Given the description of an element on the screen output the (x, y) to click on. 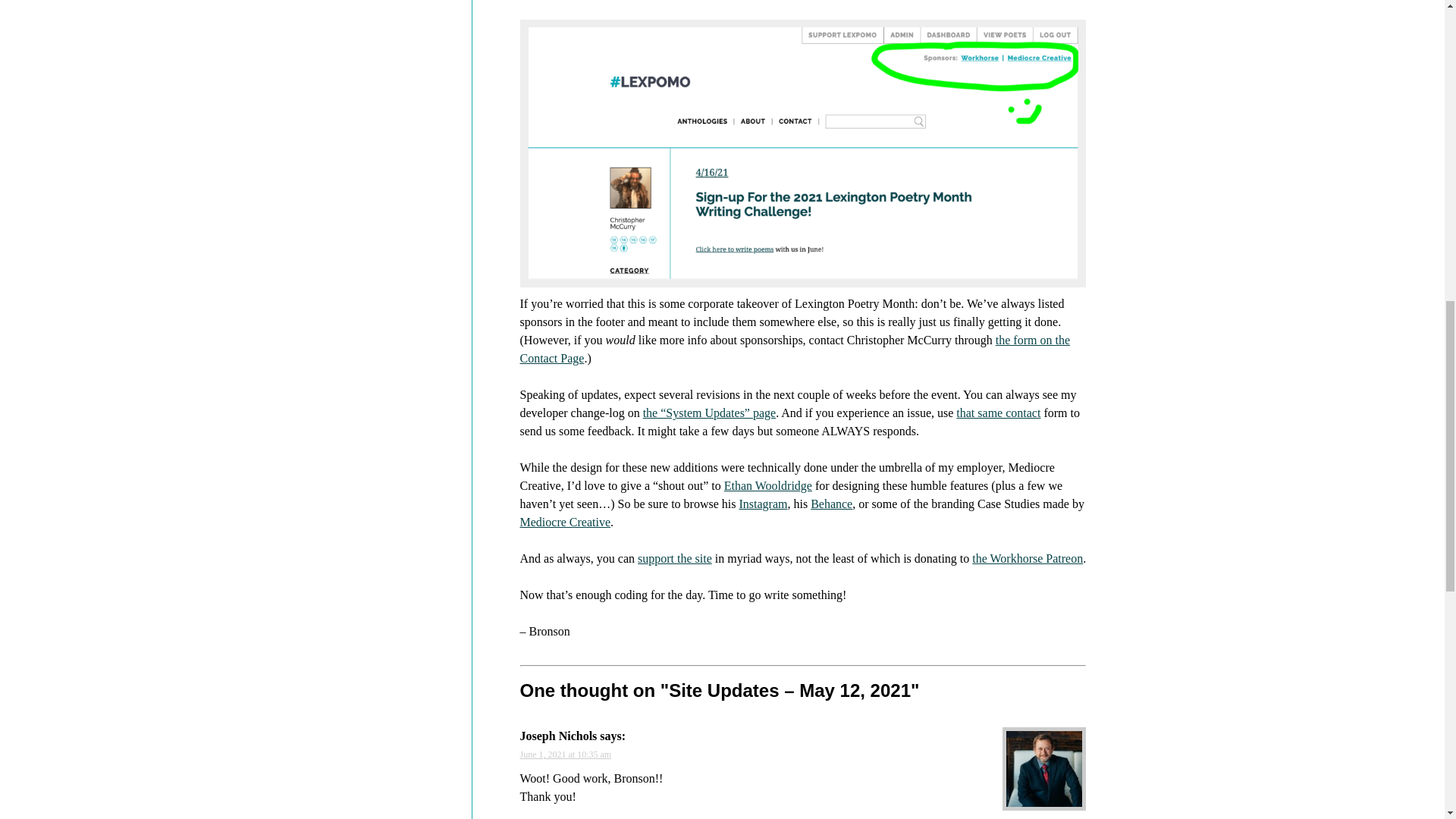
support the site (674, 558)
Behance (830, 503)
Instagram (762, 503)
Mediocre Creative (565, 521)
the Workhorse Patreon (1027, 558)
that same contact (998, 412)
Ethan Wooldridge (767, 485)
the form on the Contact Page (794, 348)
June 1, 2021 at 10:35 am (565, 754)
